Given the description of an element on the screen output the (x, y) to click on. 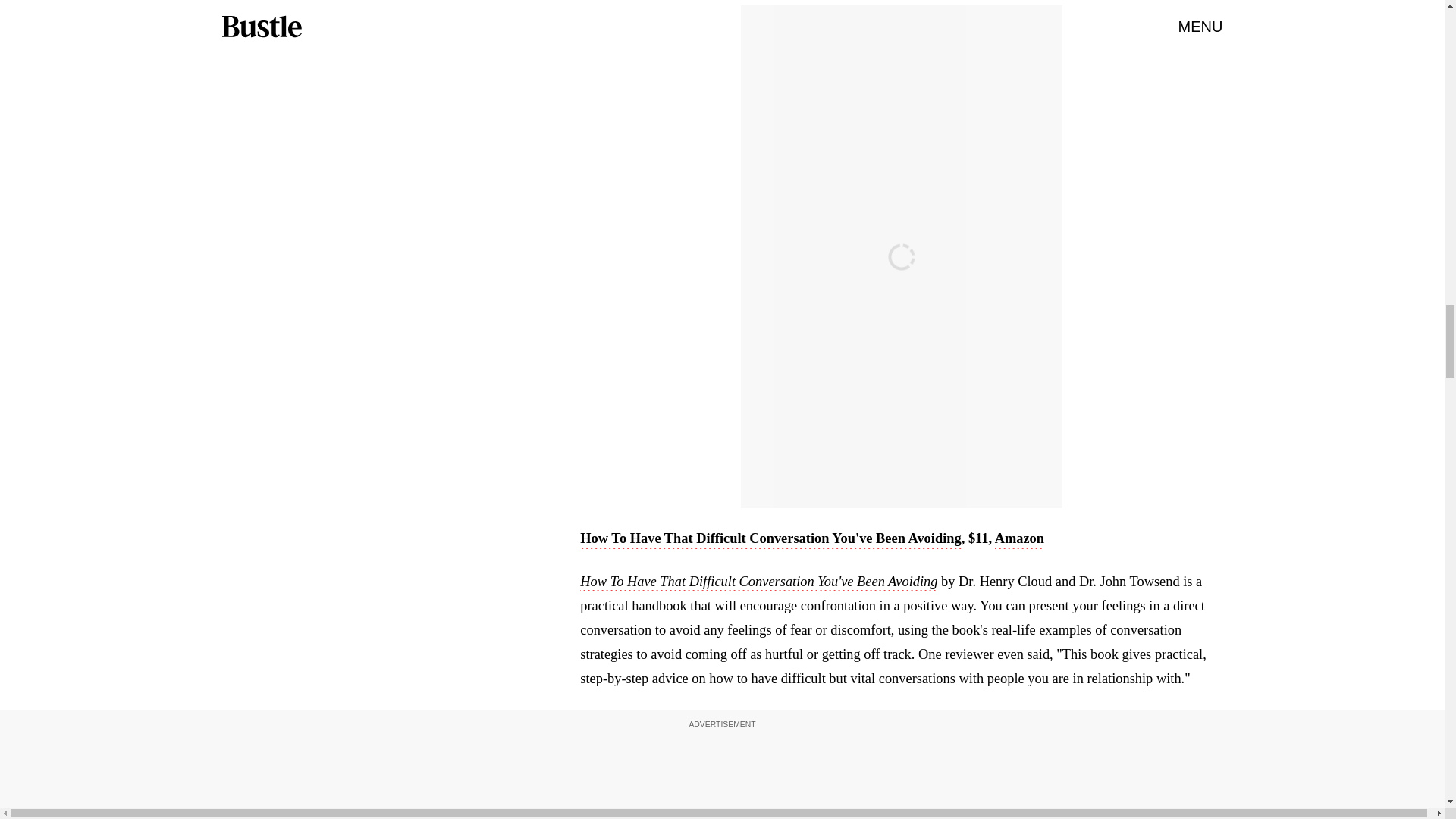
How To Have That Difficult Conversation You've Been Avoiding (769, 539)
How To Have That Difficult Conversation You've Been Avoiding (758, 583)
Amazon (1018, 539)
